Given the description of an element on the screen output the (x, y) to click on. 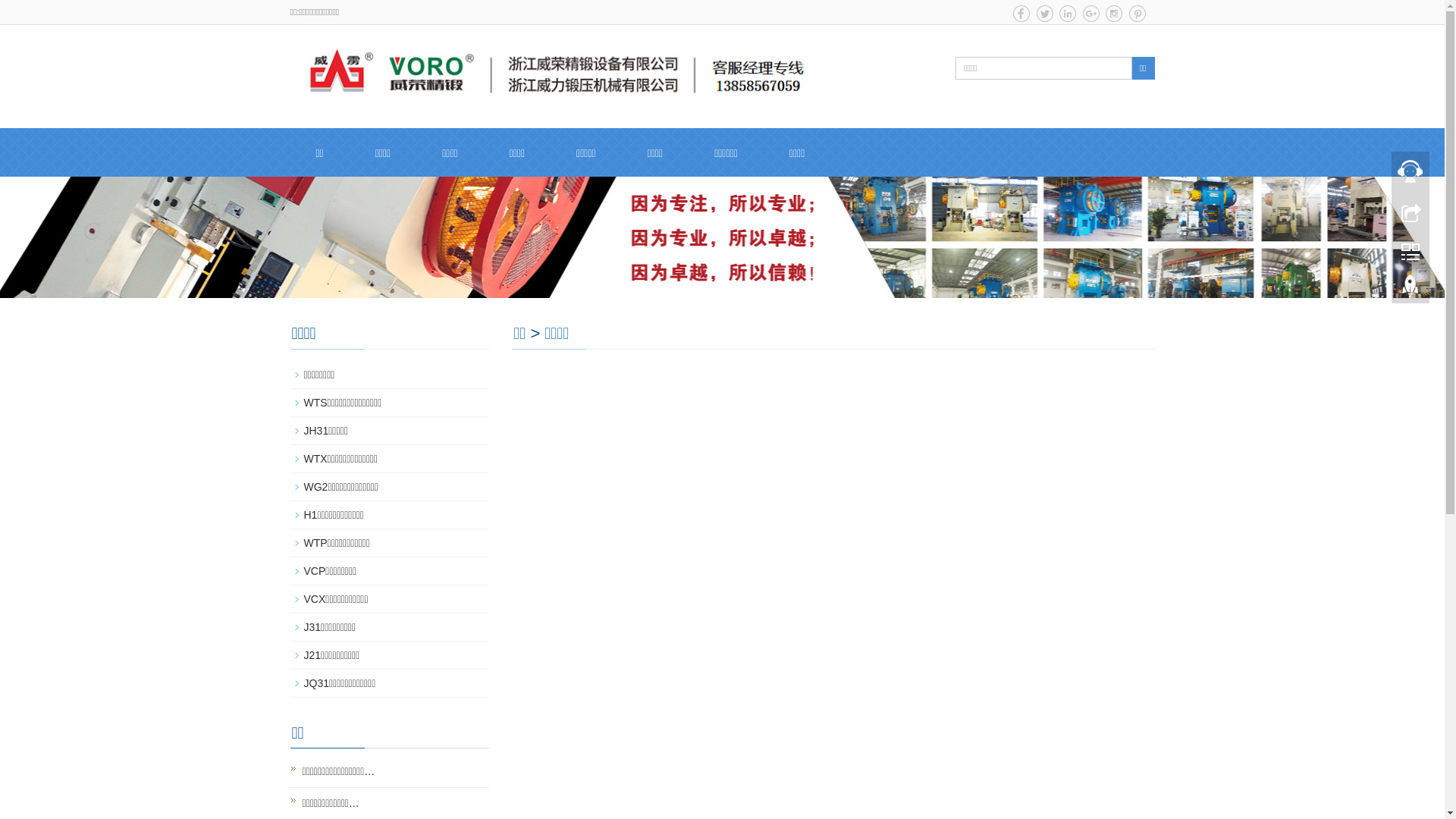
Top Element type: hover (1410, 290)
